Given the description of an element on the screen output the (x, y) to click on. 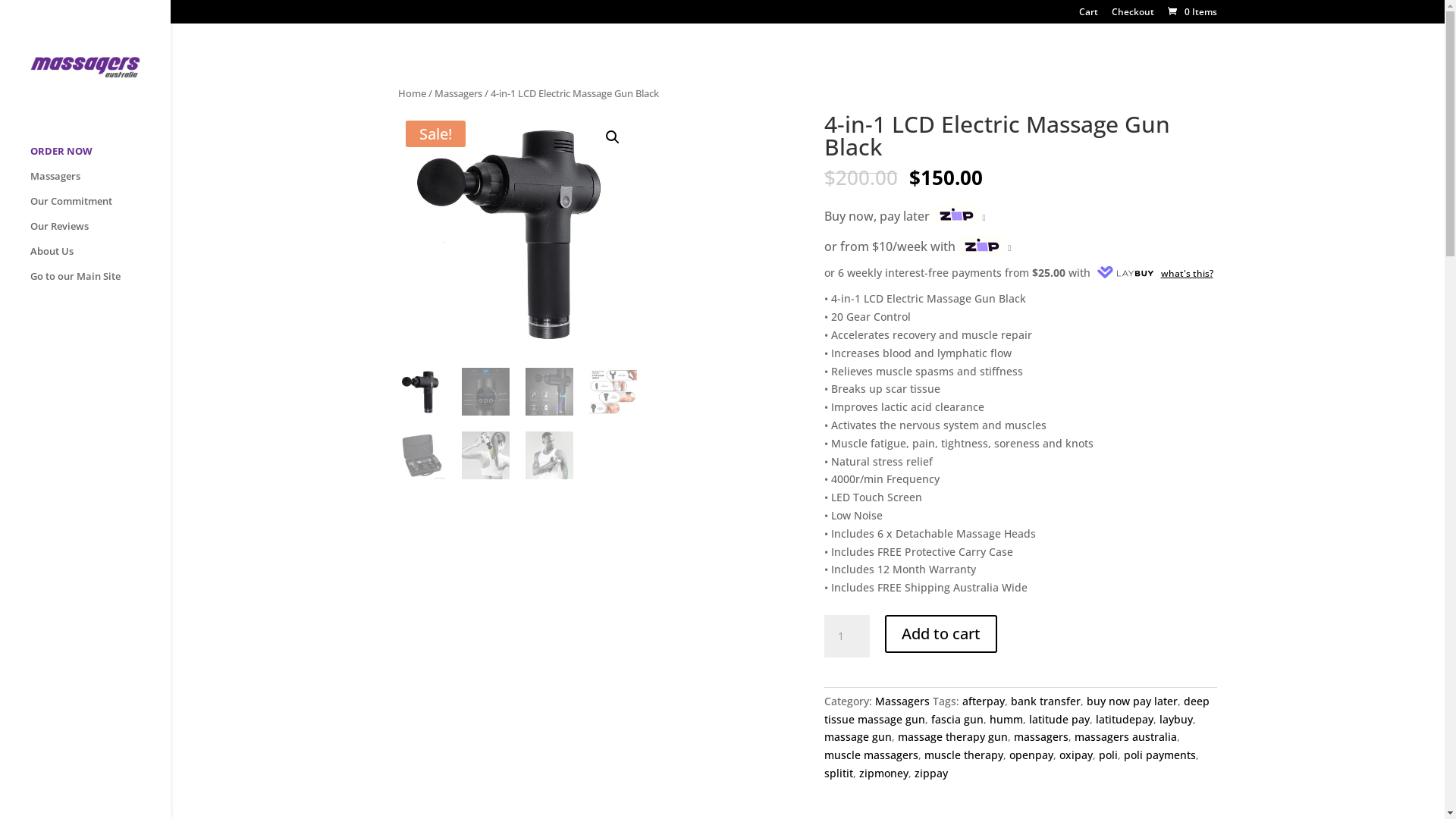
massage gun Element type: text (857, 736)
poli Element type: text (1107, 754)
4-in-1-LCD-Electric-Massage-Gun-Black-1.jpg Element type: hover (517, 231)
splitit Element type: text (838, 772)
0 Items Element type: text (1191, 11)
oxipay Element type: text (1075, 754)
what's this? Element type: text (1153, 272)
muscle massagers Element type: text (871, 754)
fascia gun Element type: text (957, 719)
zipmoney Element type: text (883, 772)
Our Reviews Element type: text (100, 232)
Home Element type: text (412, 93)
Our Commitment Element type: text (100, 207)
humm Element type: text (1005, 719)
About Us Element type: text (100, 257)
massagers Element type: text (1040, 736)
laybuy Element type: text (1175, 719)
Go to our Main Site Element type: text (100, 282)
buy now pay later Element type: text (1131, 700)
massage therapy gun Element type: text (952, 736)
openpay Element type: text (1031, 754)
Massagers Element type: text (902, 700)
Cart Element type: text (1088, 15)
zippay Element type: text (930, 772)
Massagers Element type: text (100, 182)
Checkout Element type: text (1132, 15)
Massagers Element type: text (458, 93)
muscle therapy Element type: text (963, 754)
poli payments Element type: text (1159, 754)
latitude pay Element type: text (1059, 719)
bank transfer Element type: text (1045, 700)
latitudepay Element type: text (1124, 719)
massagers australia Element type: text (1125, 736)
afterpay Element type: text (983, 700)
Add to cart Element type: text (940, 633)
ORDER NOW Element type: text (100, 157)
deep tissue massage gun Element type: text (1016, 709)
